Given the description of an element on the screen output the (x, y) to click on. 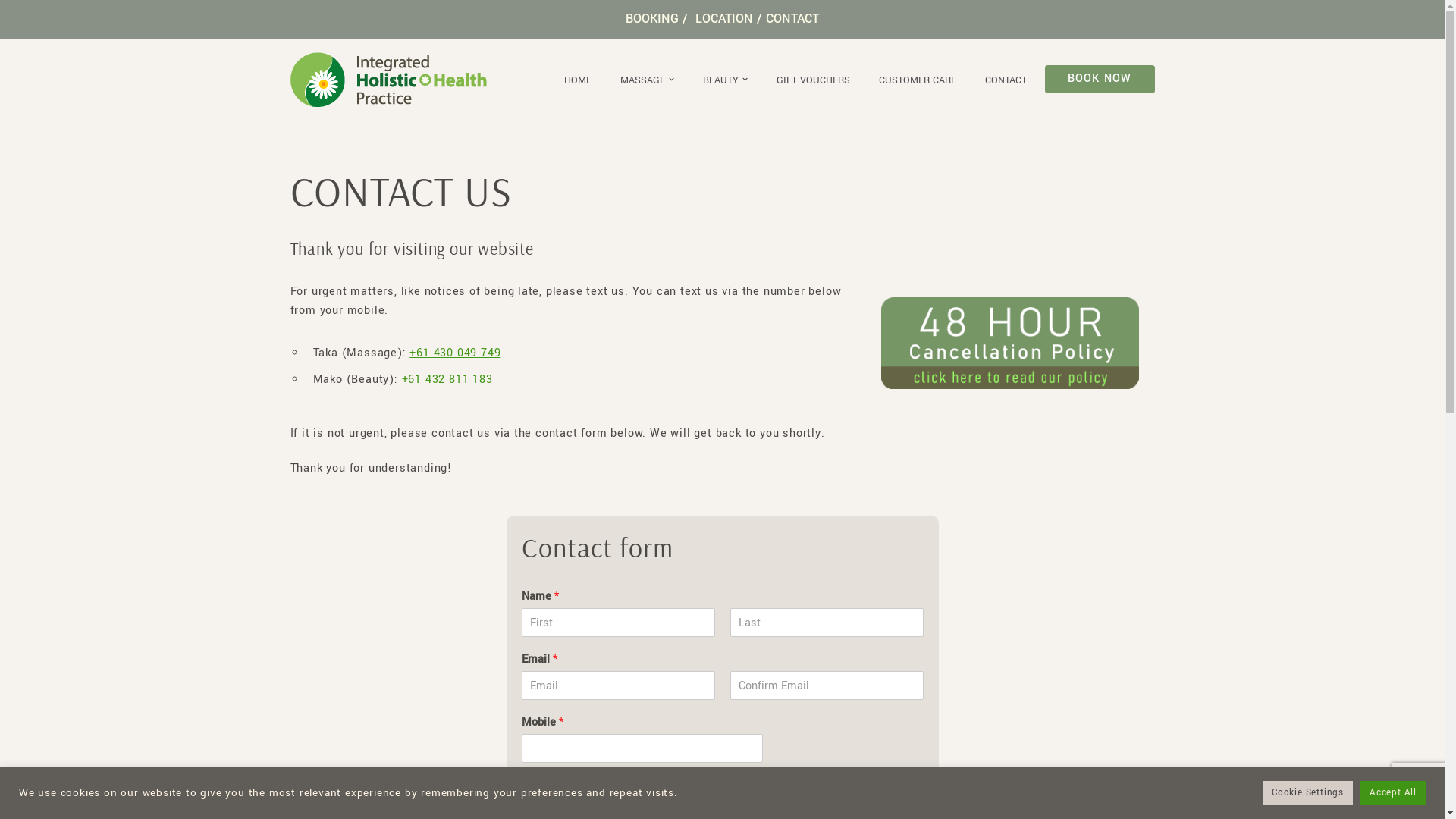
BOOKING Element type: text (651, 18)
LOCATION Element type: text (724, 18)
Skip to content Element type: text (11, 31)
BEAUTY Element type: text (720, 78)
CONTACT Element type: text (792, 18)
HOME Element type: text (577, 78)
CONTACT Element type: text (1005, 78)
BOOK NOW Element type: text (1099, 79)
CUSTOMER CARE Element type: text (917, 78)
Accept All Element type: text (1392, 792)
GIFT VOUCHERS Element type: text (813, 78)
MASSAGE Element type: text (642, 78)
+61 430 049 749 Element type: text (454, 352)
Cookie Settings Element type: text (1307, 792)
+61 432 811 183 Element type: text (446, 379)
